Given the description of an element on the screen output the (x, y) to click on. 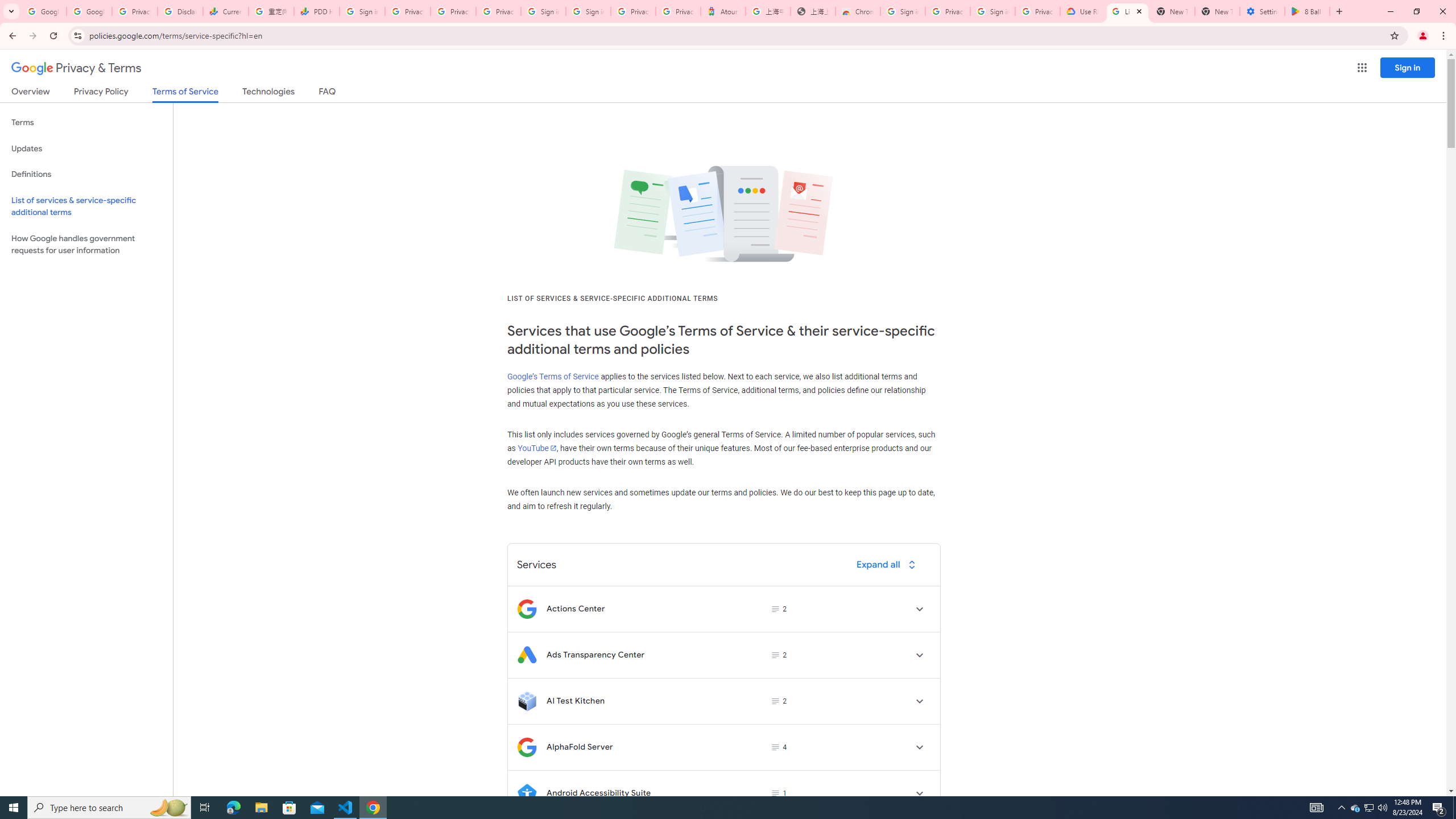
PDD Holdings Inc - ADR (PDD) Price & News - Google Finance (316, 11)
Privacy Checkup (497, 11)
Currencies - Google Finance (225, 11)
New Tab (1216, 11)
Expand all (888, 564)
Sign in - Google Accounts (587, 11)
